Given the description of an element on the screen output the (x, y) to click on. 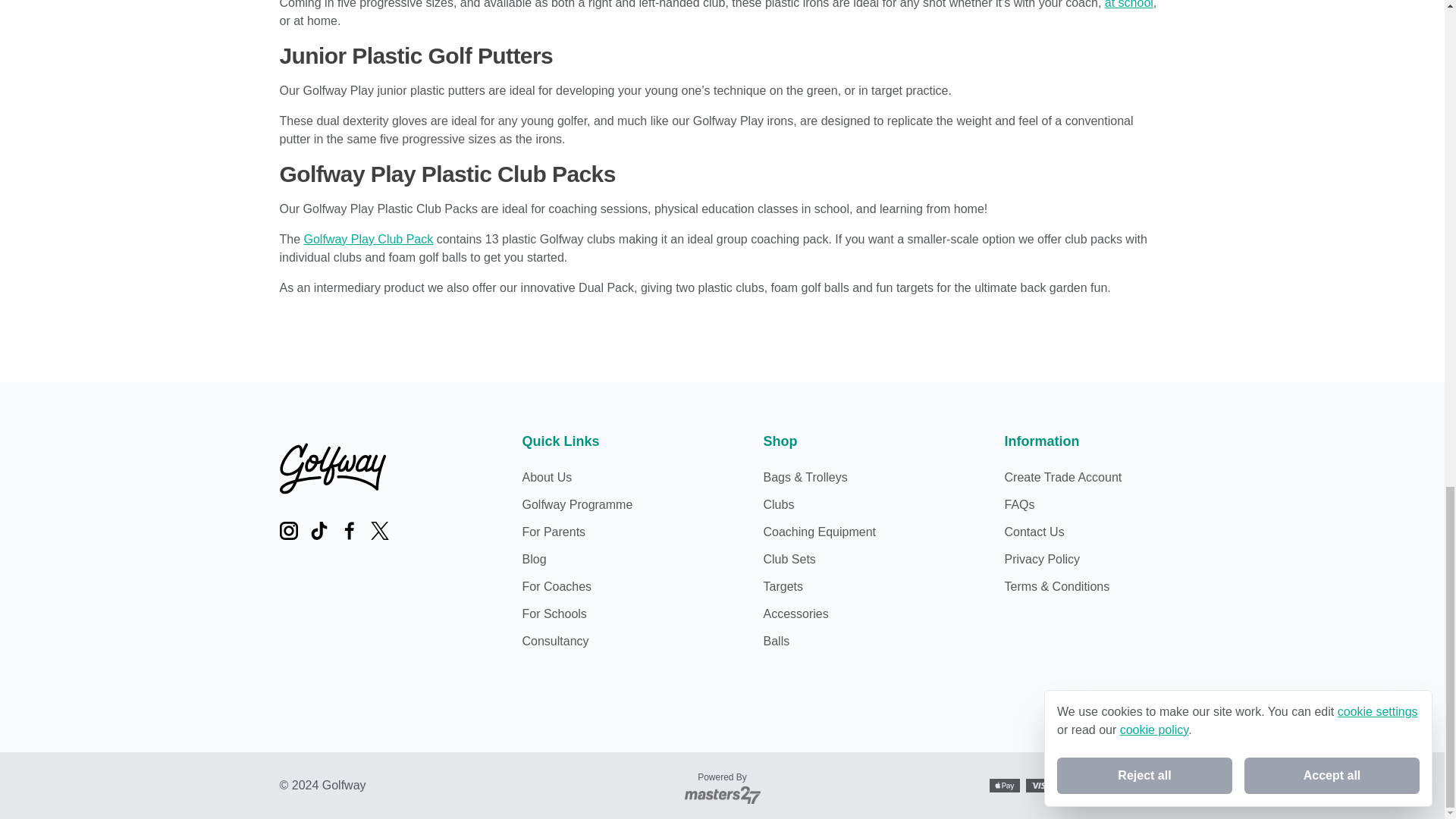
Facebook (348, 530)
Twitter (378, 530)
TikTok (317, 530)
Instagram (288, 530)
